Given the description of an element on the screen output the (x, y) to click on. 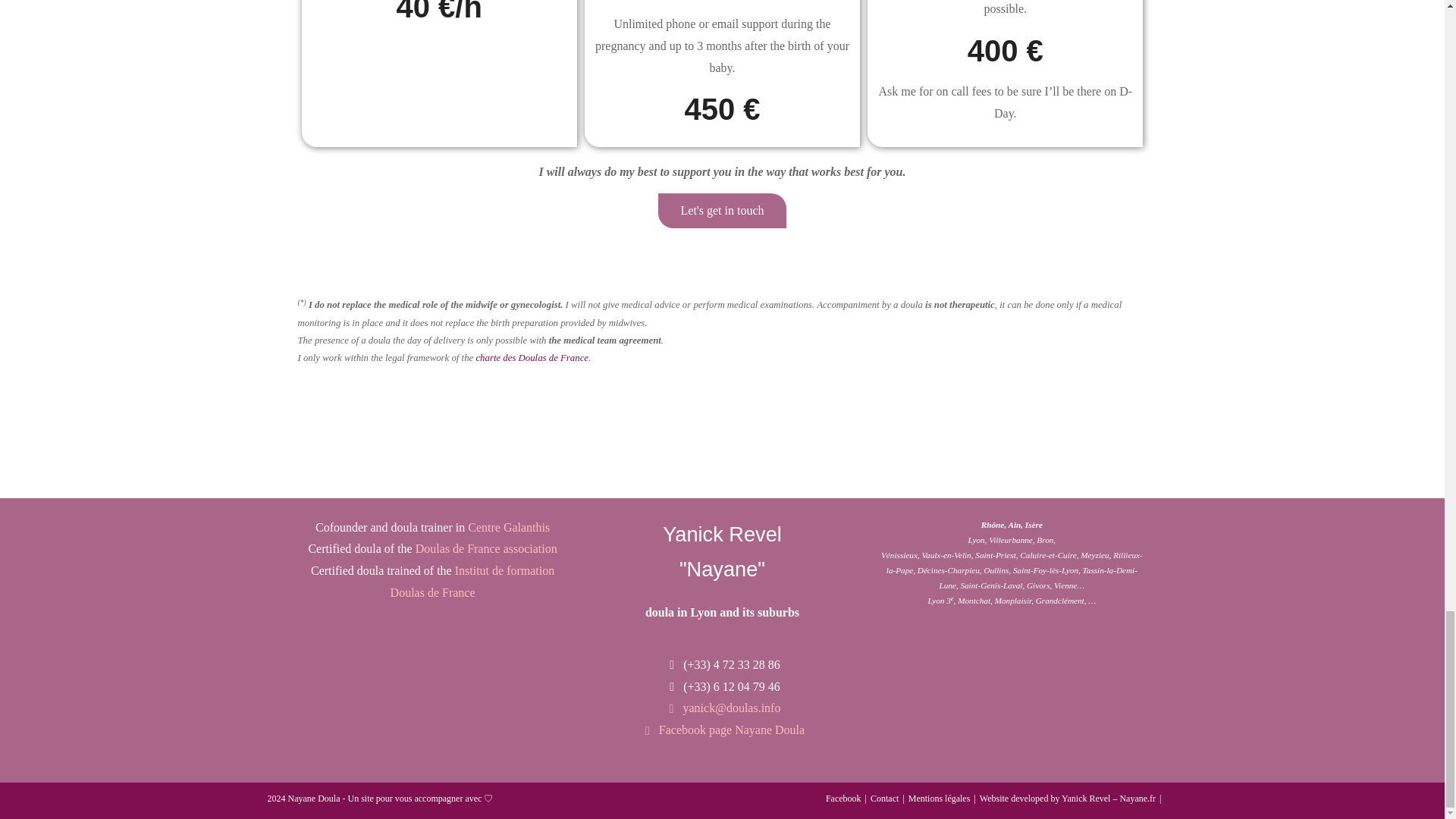
Institut de formation Doulas de France (472, 581)
Centre Galanthis (508, 526)
Doulas de France association (485, 548)
Let's get in touch (722, 210)
charte des Doulas de France (532, 357)
